Given the description of an element on the screen output the (x, y) to click on. 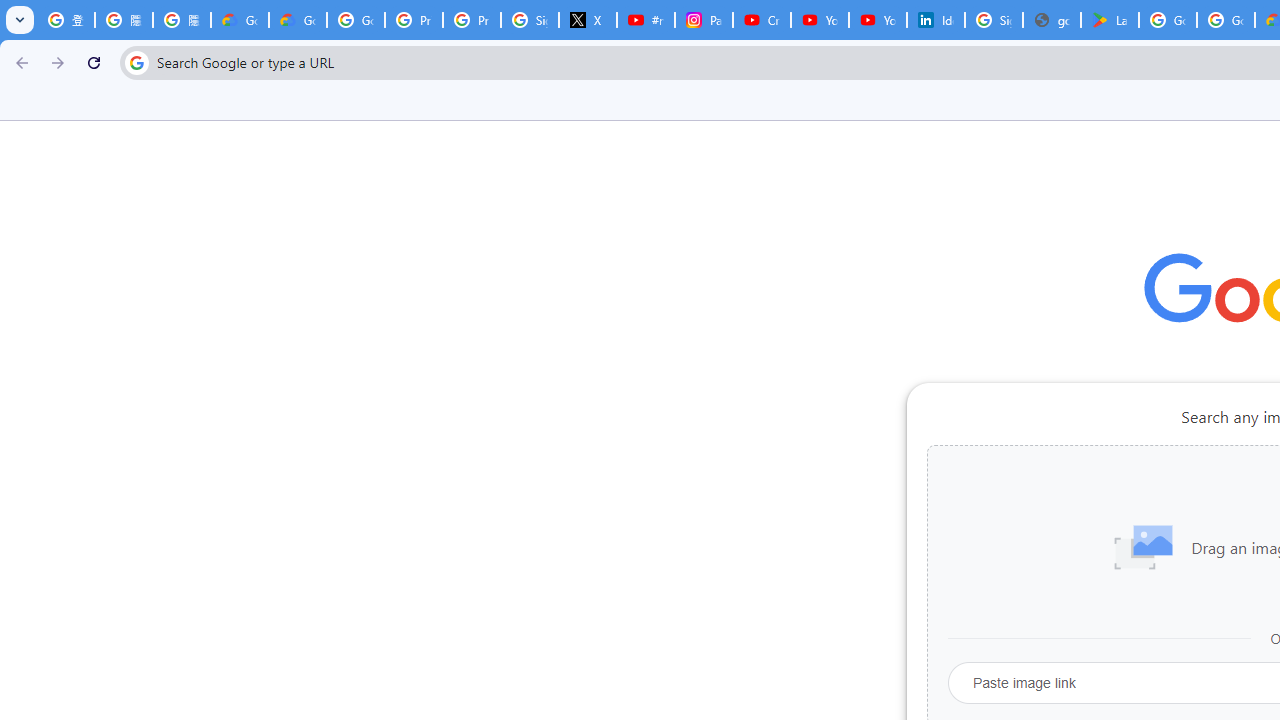
Forward (57, 62)
Search tabs (20, 20)
google_privacy_policy_en.pdf (1051, 20)
Google Cloud Privacy Notice (297, 20)
Reload (93, 62)
Last Shelter: Survival - Apps on Google Play (1110, 20)
Search icon (136, 62)
YouTube Culture & Trends - YouTube Top 10, 2021 (877, 20)
